Given the description of an element on the screen output the (x, y) to click on. 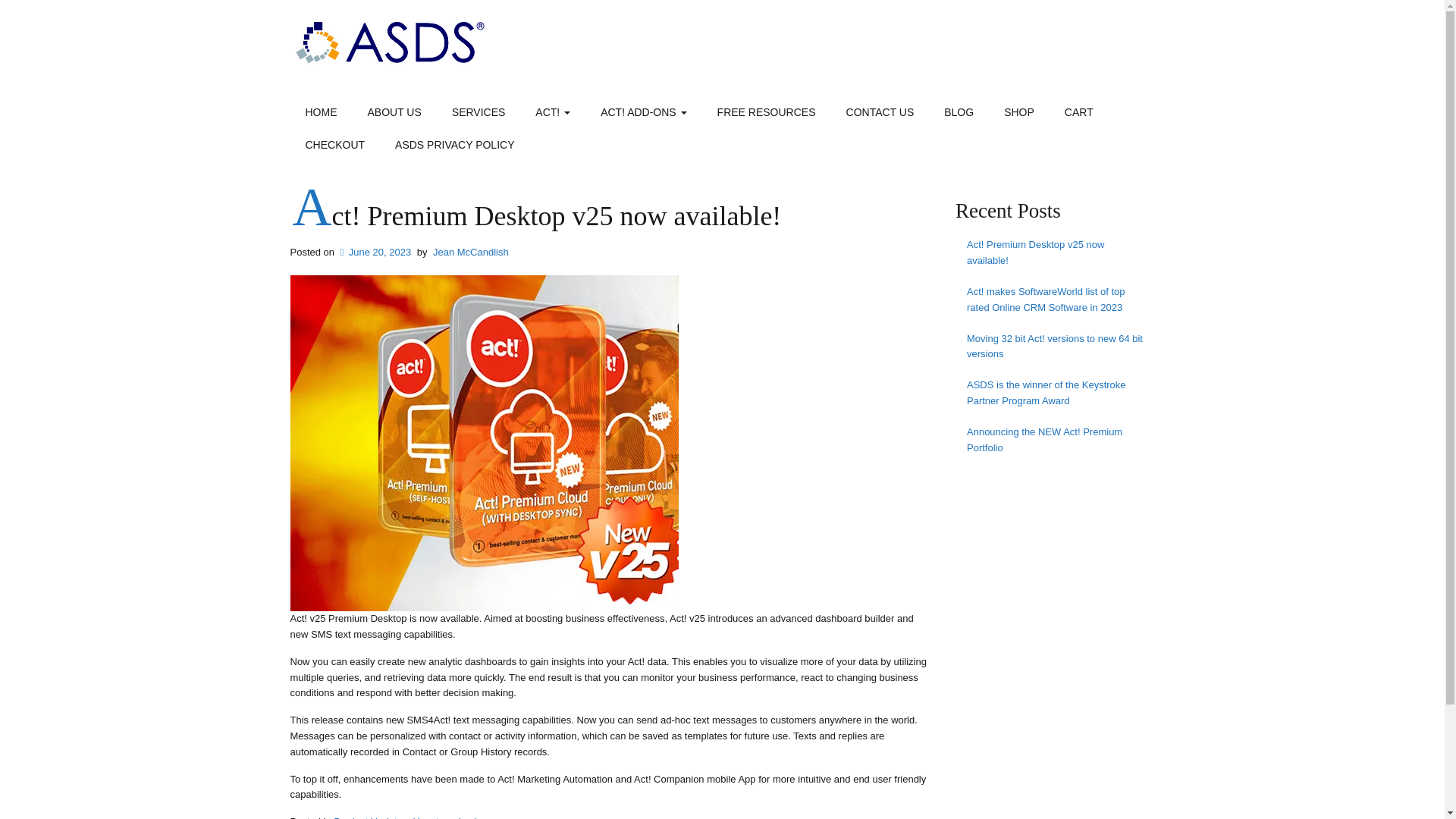
ASDS PRIVACY POLICY (454, 145)
June 20, 2023 (374, 251)
SHOP (1018, 113)
CONTACT US (880, 113)
SERVICES (478, 113)
CHECKOUT (334, 145)
CART (1078, 113)
FREE RESOURCES (766, 113)
HOME (320, 113)
ACT! ADD-ONS (643, 113)
Jean McCandlish (470, 251)
Act! Premium Desktop v25 now available! (536, 215)
ABOUT US (393, 113)
ACT! (552, 113)
